Given the description of an element on the screen output the (x, y) to click on. 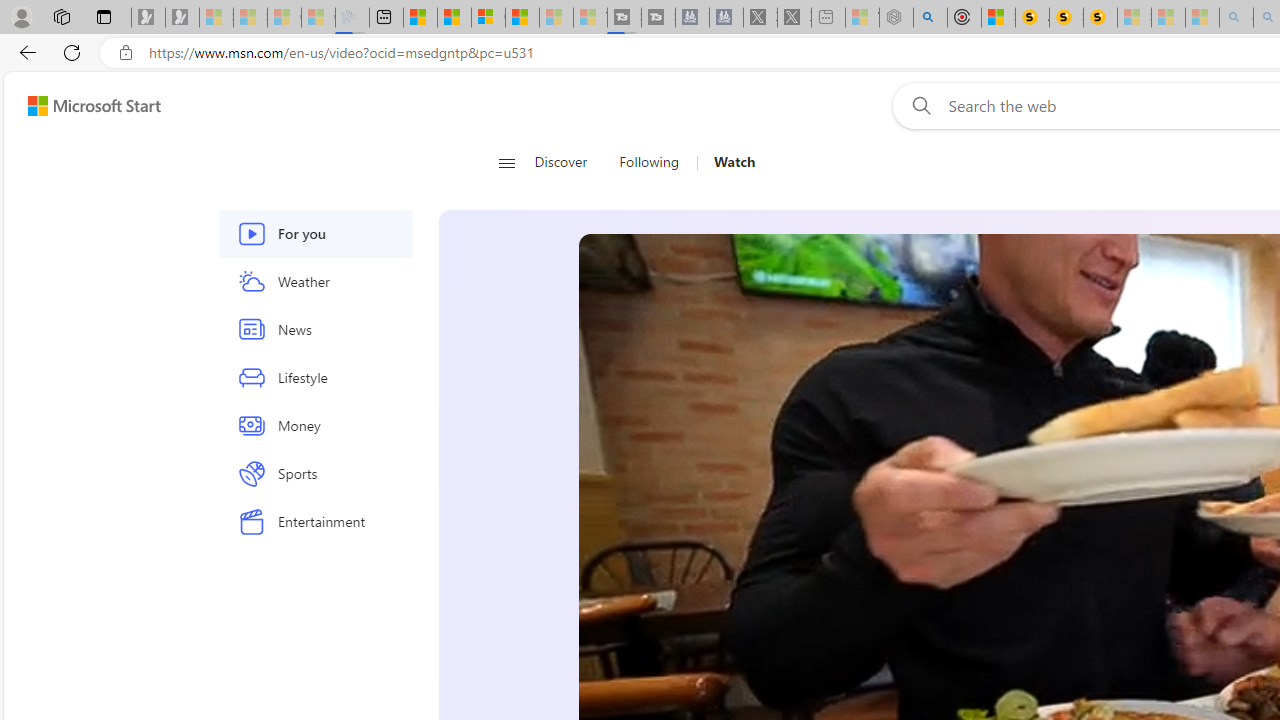
poe - Search (930, 17)
Streaming Coverage | T3 - Sleeping (624, 17)
Following (649, 162)
Class: button-glyph (505, 162)
